Given the description of an element on the screen output the (x, y) to click on. 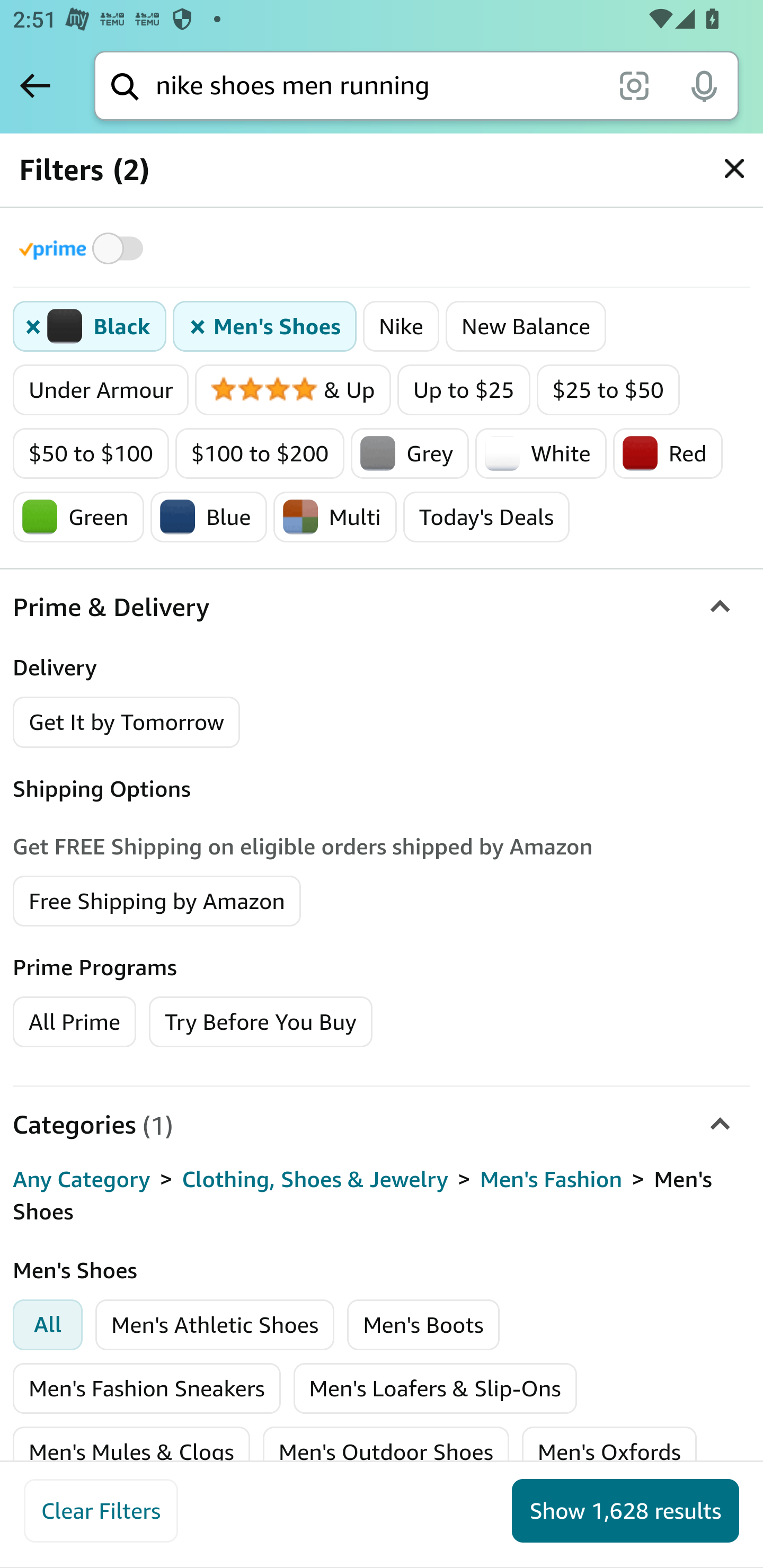
Back (35, 85)
scan it (633, 85)
Toggle to filter by Prime products Prime Eligible (83, 247)
× Black Black × Black Black (89, 326)
× Men's Shoes × Men's Shoes (264, 326)
Nike (401, 326)
New Balance (525, 326)
Feethit (230, 335)
Under Armour (100, 390)
4 Stars & Up (291, 390)
Up to $25 (463, 390)
$25 to $50 (607, 390)
$50 to $100 (91, 453)
$100 to $200 (259, 453)
Grey Grey Grey Grey (409, 453)
White White White White (541, 453)
Red Red Red Red (667, 453)
Green Green Green Green (78, 517)
Blue Blue Blue Blue (208, 517)
Multi Multi Multi Multi (334, 517)
Today's Deals (486, 517)
Prime & Delivery (381, 607)
Get It by Tomorrow (126, 721)
Free Shipping by Amazon (157, 899)
All Prime (74, 1020)
Try Before You Buy (260, 1020)
Categories (1) (381, 1124)
Any Category (81, 1179)
Clothing, Shoes & Jewelry (314, 1179)
Men's Fashion (550, 1179)
Men's Athletic Shoes (215, 1324)
Men's Boots (423, 1324)
Men's Fashion Sneakers (146, 1388)
Men's Loafers & Slip-Ons (434, 1388)
Men's Mules & Clogs (131, 1451)
Men's Outdoor Shoes (386, 1451)
Men's Oxfords (609, 1451)
Clear Filters (100, 1510)
Show 1,628 results (625, 1510)
